Given the description of an element on the screen output the (x, y) to click on. 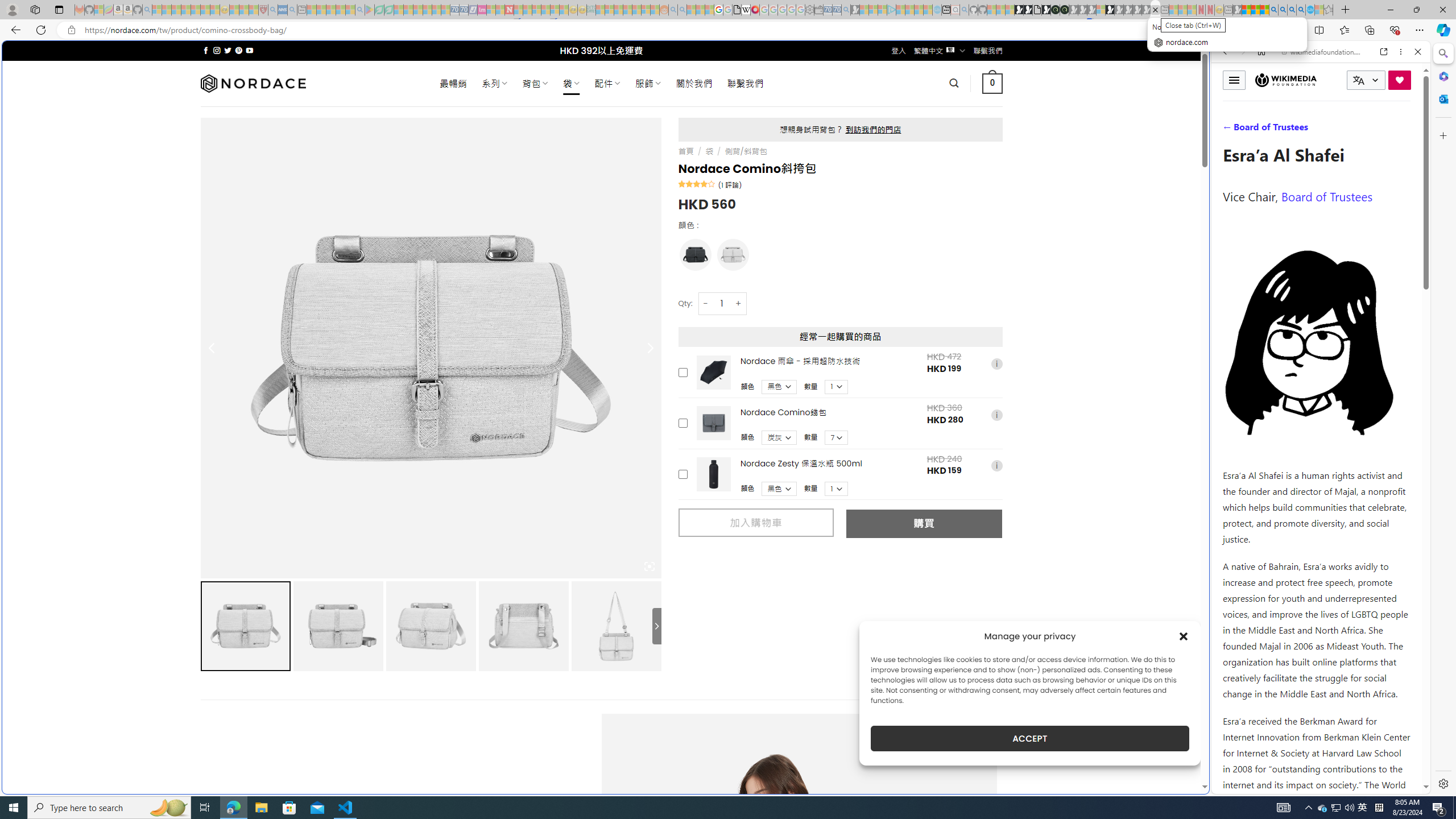
Toggle menu (1233, 80)
WEB   (1230, 130)
